Given the description of an element on the screen output the (x, y) to click on. 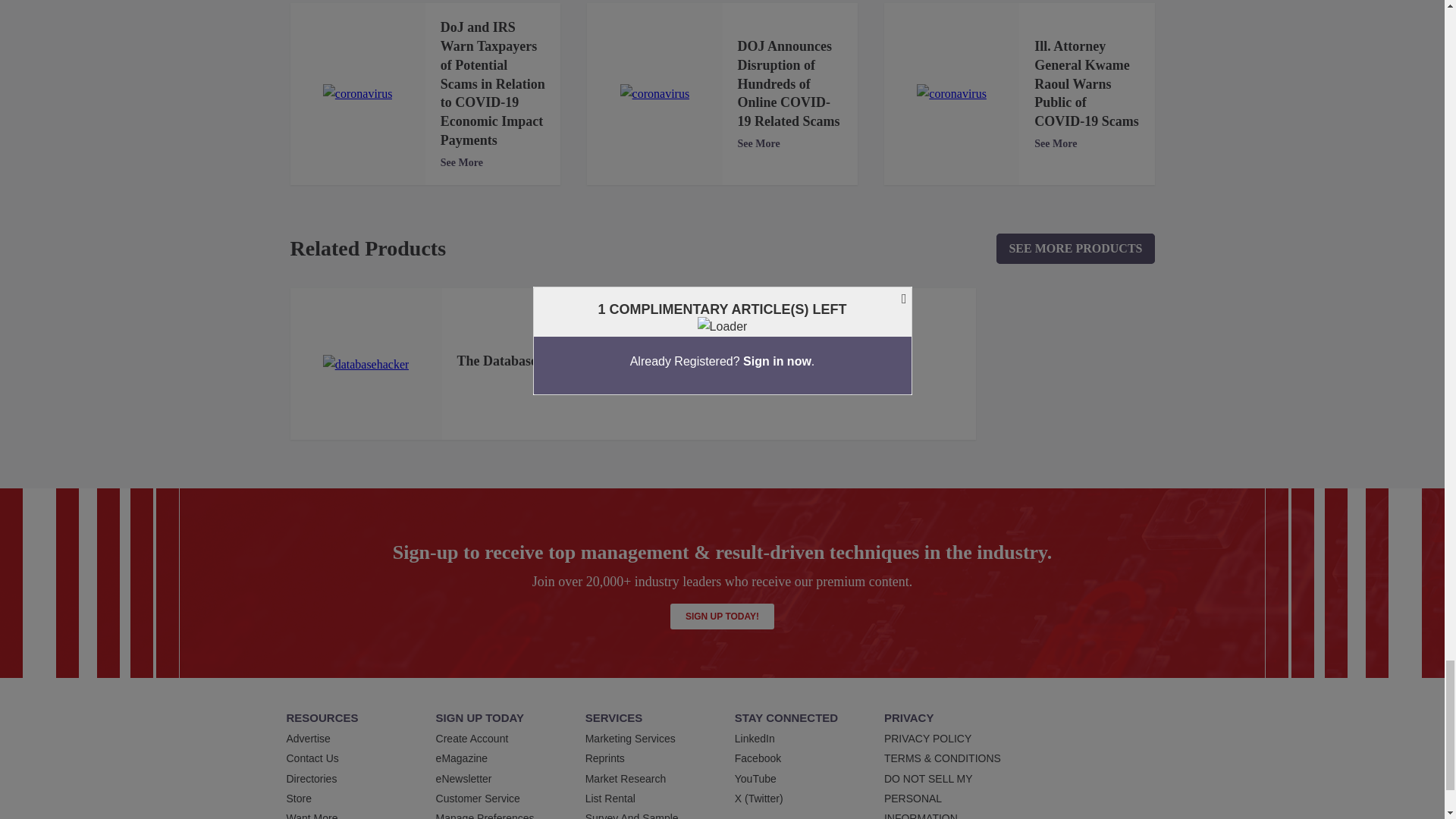
coronavirus (655, 94)
coronavirus (358, 94)
coronavirus (952, 94)
databasehacker (366, 364)
